Given the description of an element on the screen output the (x, y) to click on. 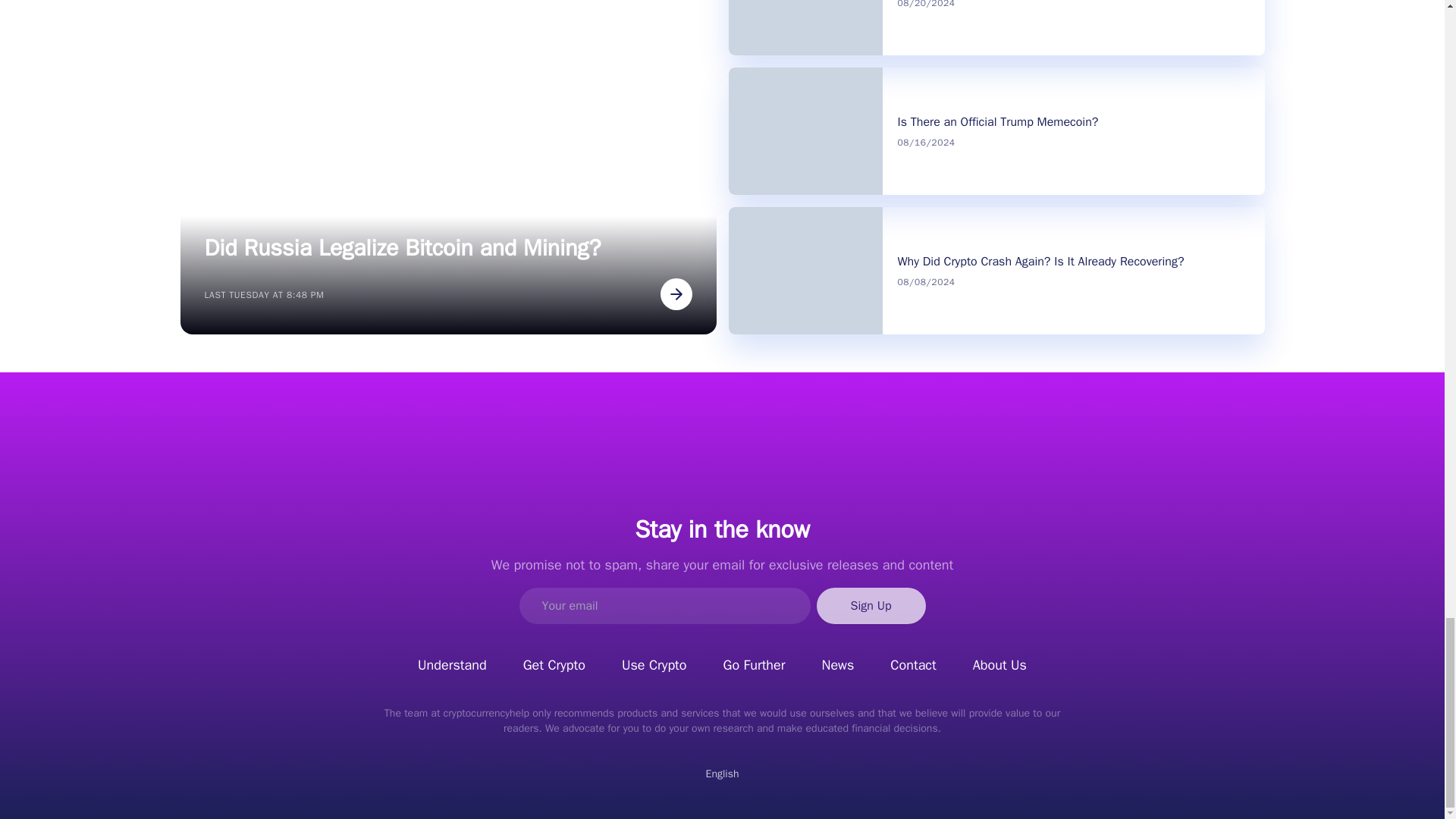
Is There an Official Trump Memecoin? (998, 121)
Did Russia Legalize Bitcoin and Mining? (449, 247)
Why Did Crypto Crash Again? Is It Already Recovering? (1041, 261)
